Given the description of an element on the screen output the (x, y) to click on. 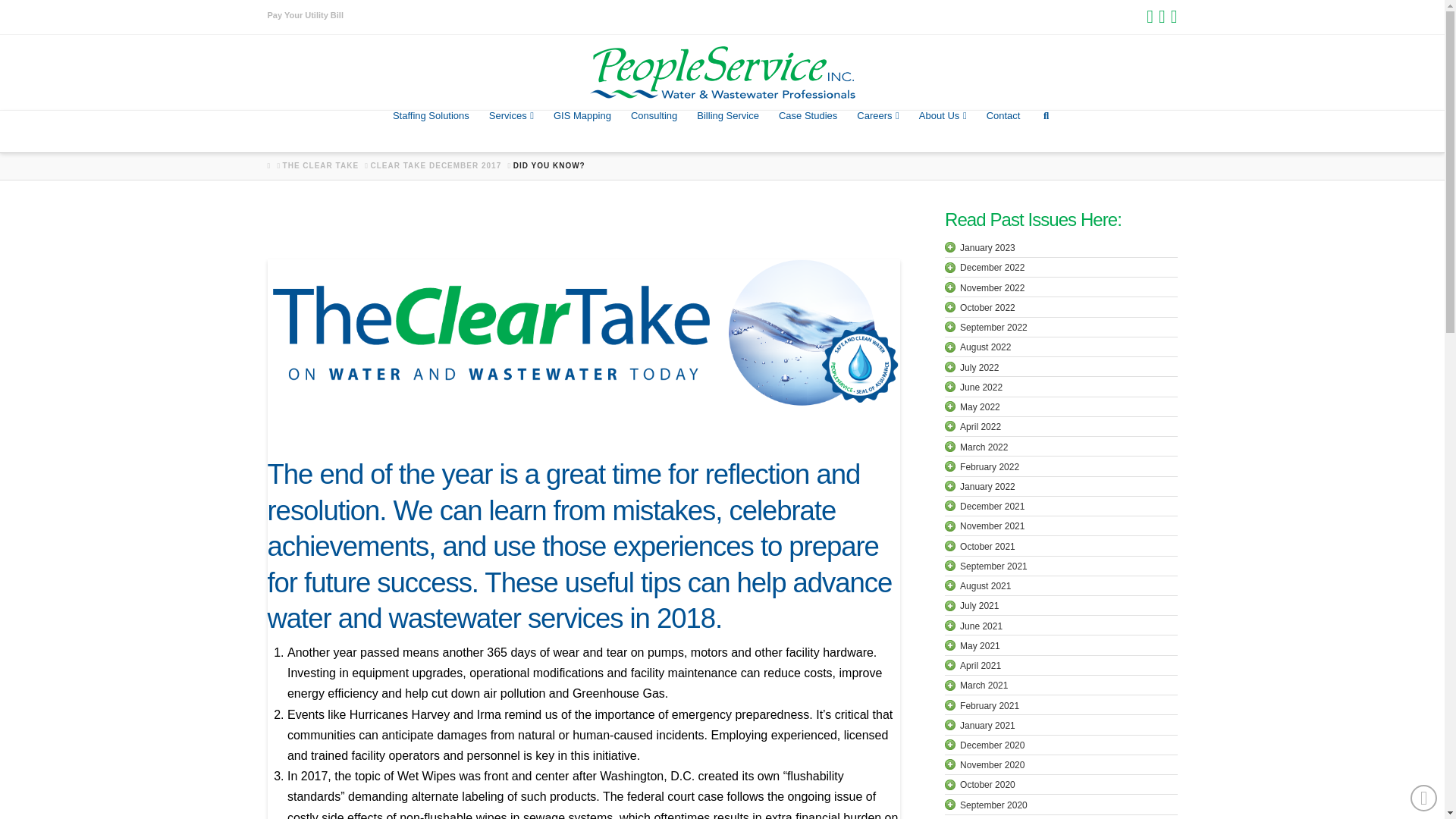
About Us (942, 131)
Case Studies (807, 131)
You Are Here (549, 165)
GIS Mapping (582, 131)
Pay Your Utility Bill (304, 14)
Services (511, 131)
Back to Top (1423, 797)
Staffing Solutions (430, 131)
Billing Service (727, 131)
Careers (877, 131)
Contact (1003, 131)
Consulting (654, 131)
